Given the description of an element on the screen output the (x, y) to click on. 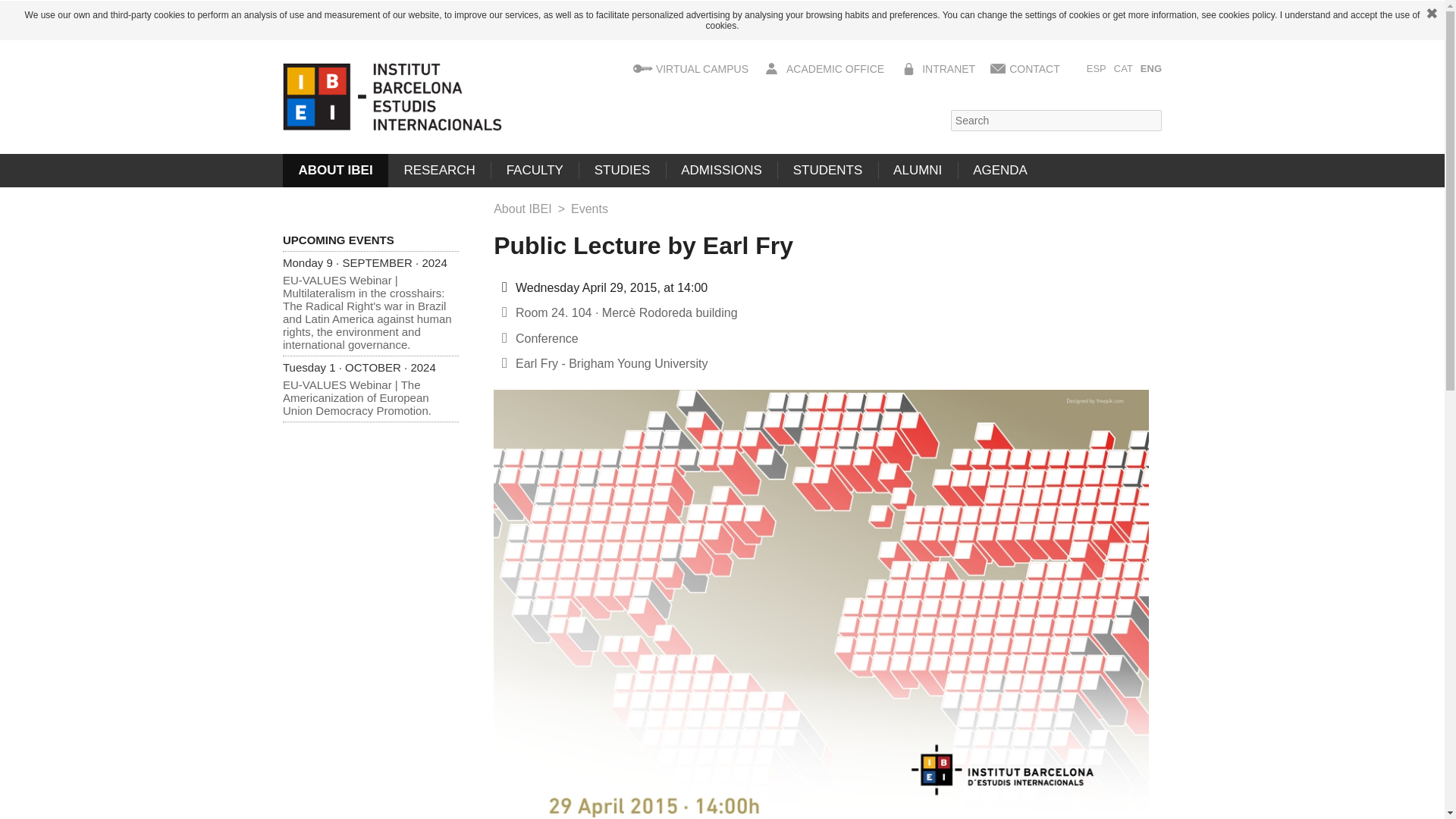
RESEARCH (439, 170)
cookies policy (1246, 14)
VIRTUAL CAMPUS (702, 69)
CAT (1122, 68)
ENG (1150, 68)
accept the use of cookies (1061, 20)
ESP (1096, 68)
ABOUT IBEI (335, 170)
CONTACT (1034, 69)
INTRANET (948, 69)
